Given the description of an element on the screen output the (x, y) to click on. 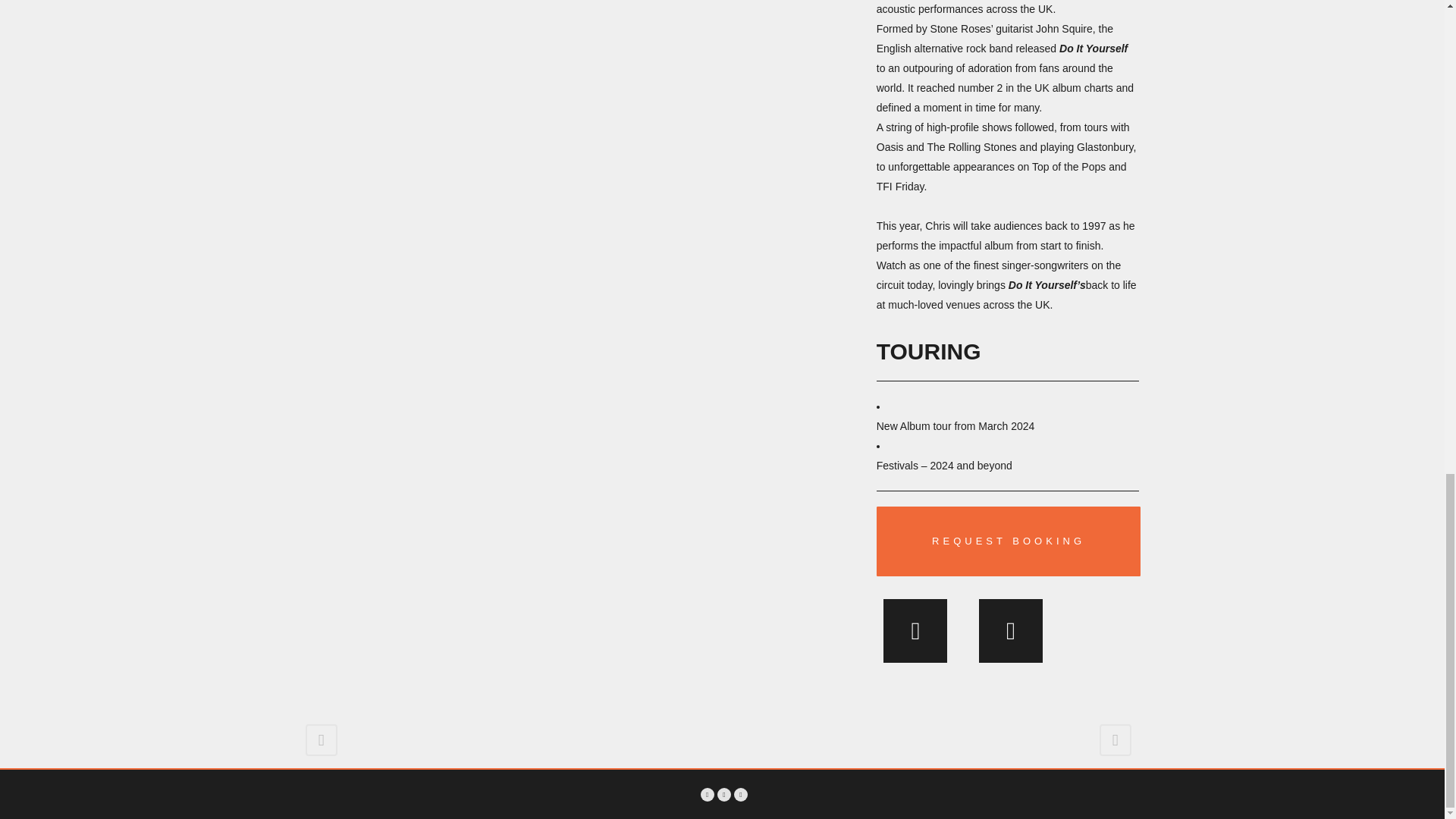
REQUEST BOOKING (1008, 541)
